Given the description of an element on the screen output the (x, y) to click on. 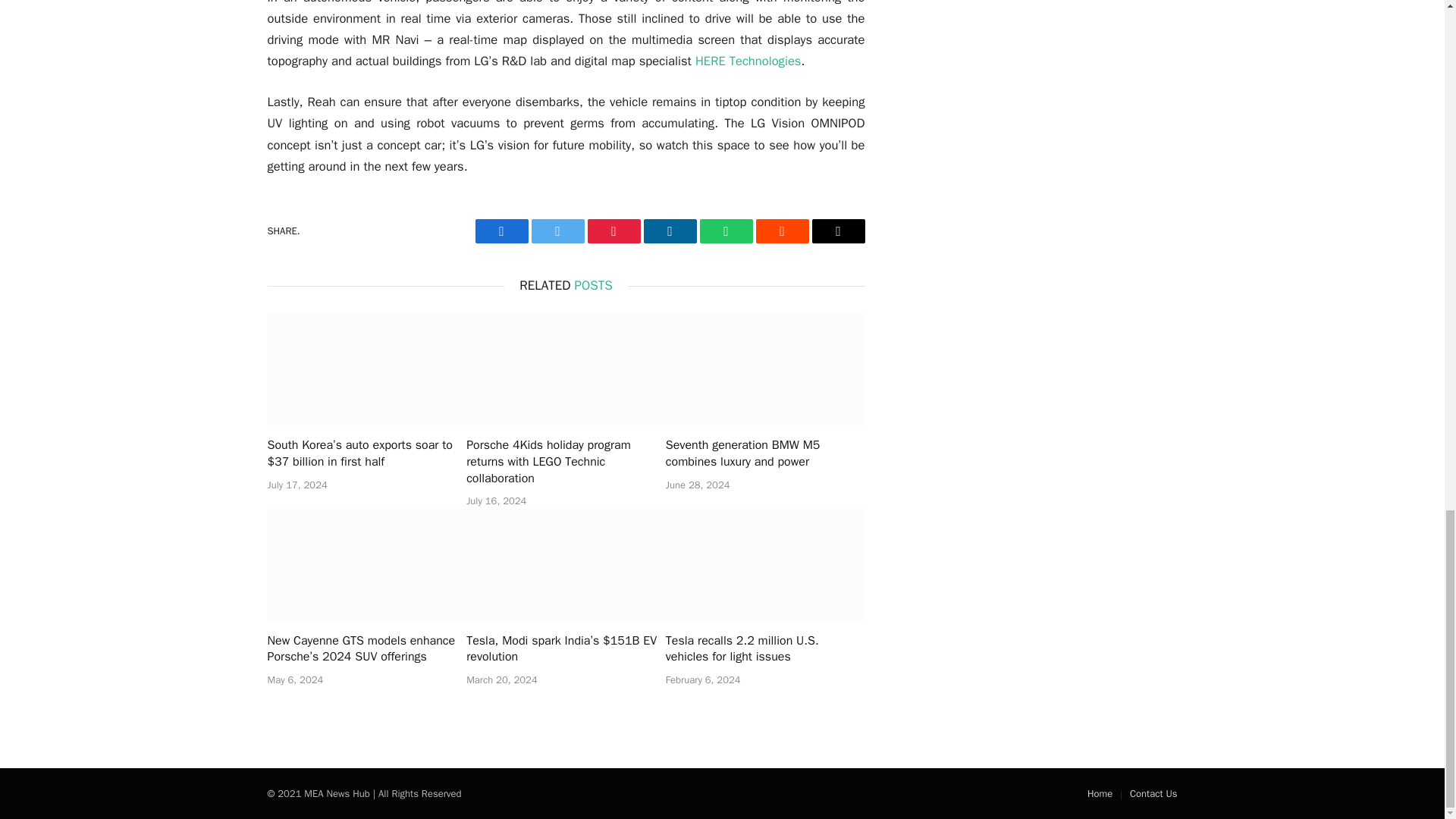
HERE Technologies (748, 60)
